Given the description of an element on the screen output the (x, y) to click on. 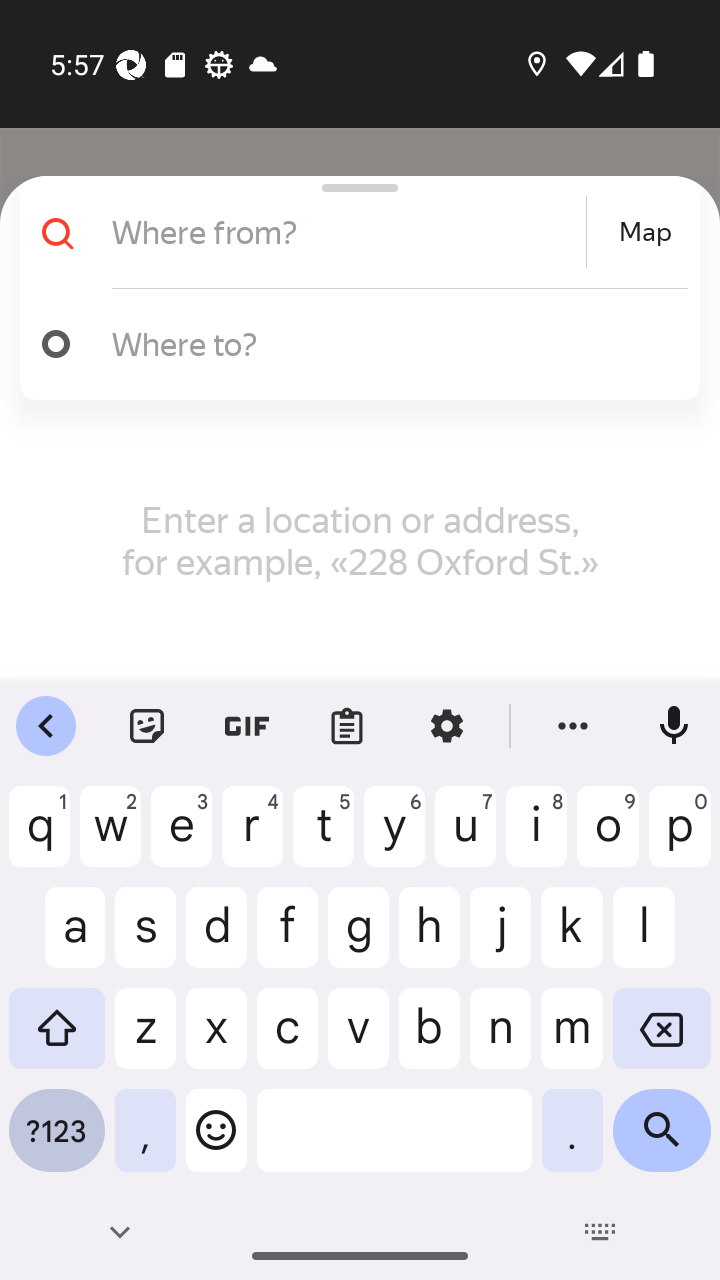
Menu Menu Menu (64, 188)
Where from? Map Map (352, 232)
Map (645, 232)
Where from? (346, 232)
Where to? (352, 343)
Where to? (390, 343)
